Given the description of an element on the screen output the (x, y) to click on. 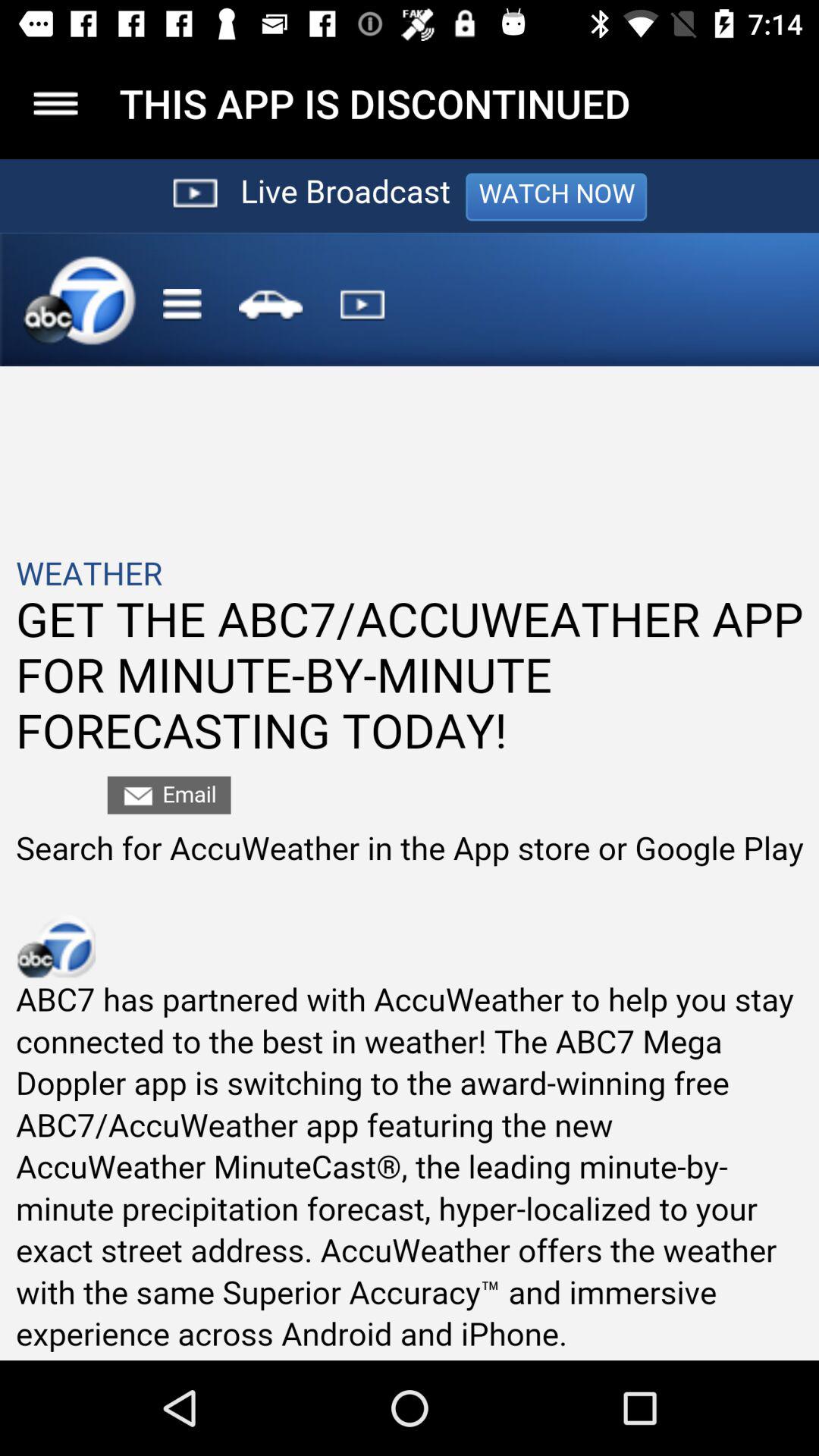
hamburger menu (55, 103)
